Given the description of an element on the screen output the (x, y) to click on. 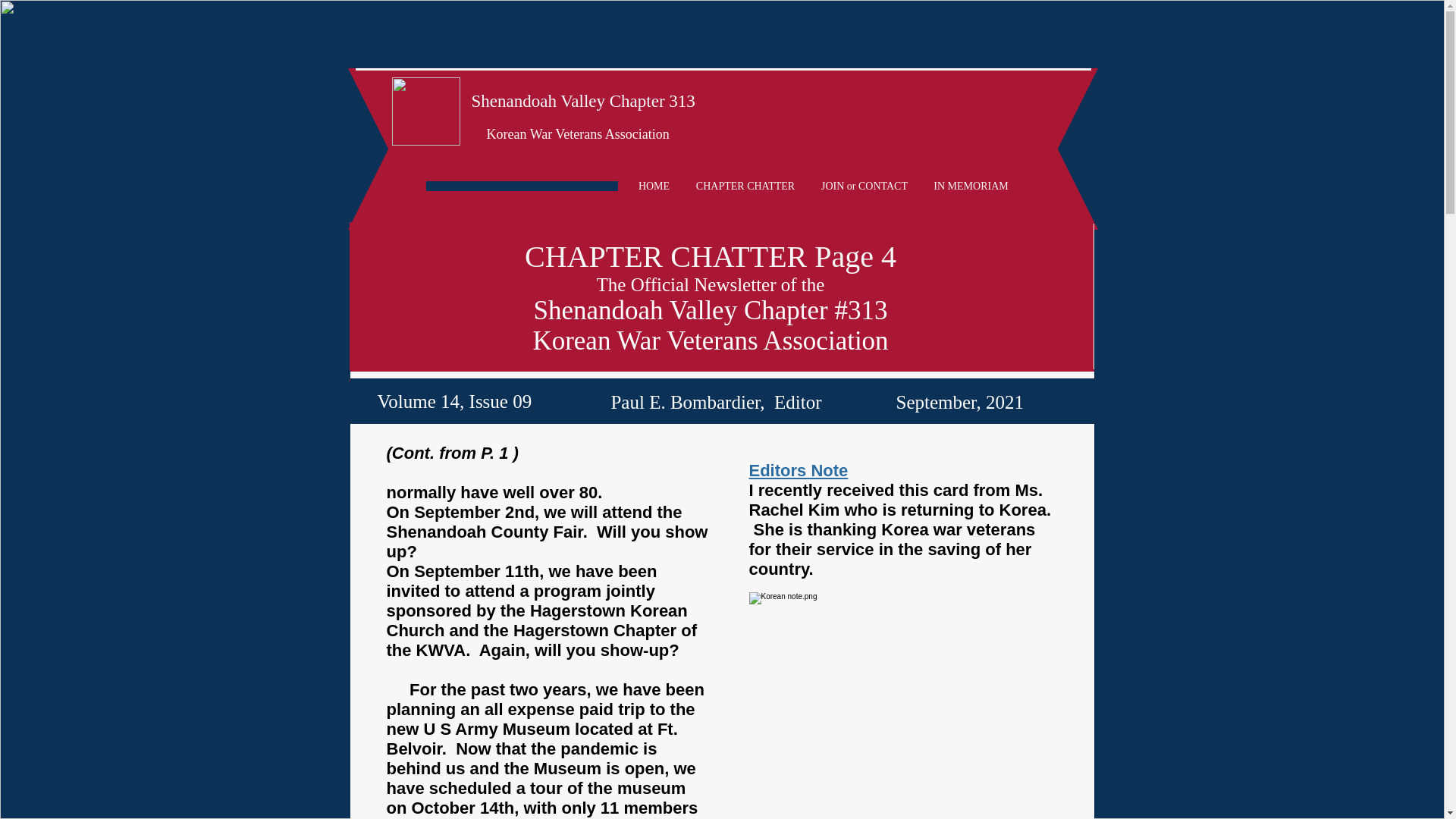
Shenandoah Valley Chapter (568, 100)
CHAPTER CHATTER (745, 185)
IN MEMORIAM (970, 185)
Korean War Veterans Association (577, 133)
HOME (653, 185)
JOIN or CONTACT (864, 185)
